Given the description of an element on the screen output the (x, y) to click on. 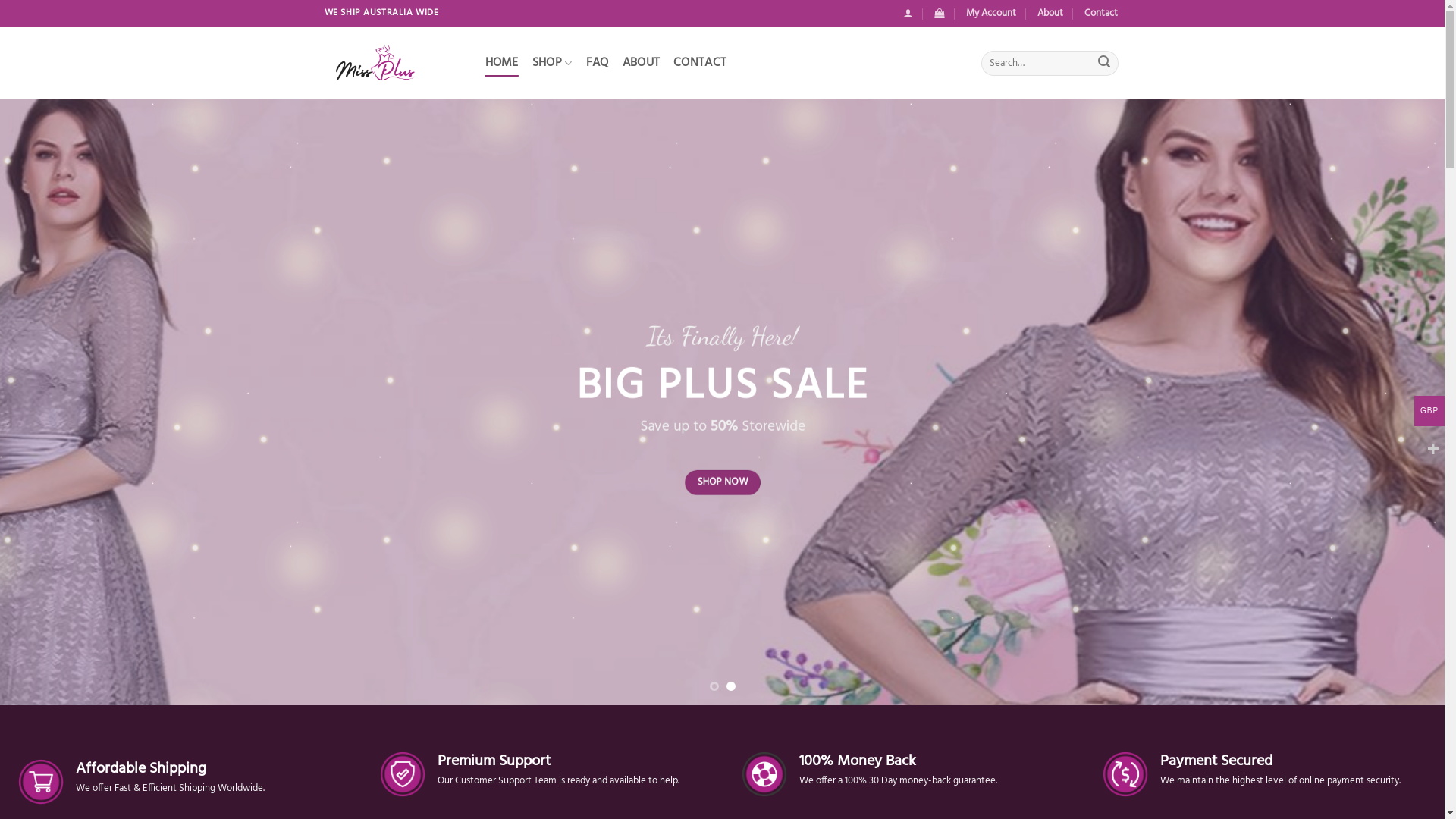
FAQ Element type: text (597, 63)
SHOP Element type: text (552, 63)
ABOUT Element type: text (641, 63)
Contact Element type: text (1100, 13)
HOME Element type: text (501, 63)
About Element type: text (1050, 13)
Cart Element type: hover (939, 13)
Search Element type: text (1104, 63)
SHOP NOW Element type: text (918, 499)
Miss Plus - Essential Plus Size Women Clothing Element type: hover (393, 65)
My Account Element type: text (991, 13)
CONTACT Element type: text (699, 63)
